Given the description of an element on the screen output the (x, y) to click on. 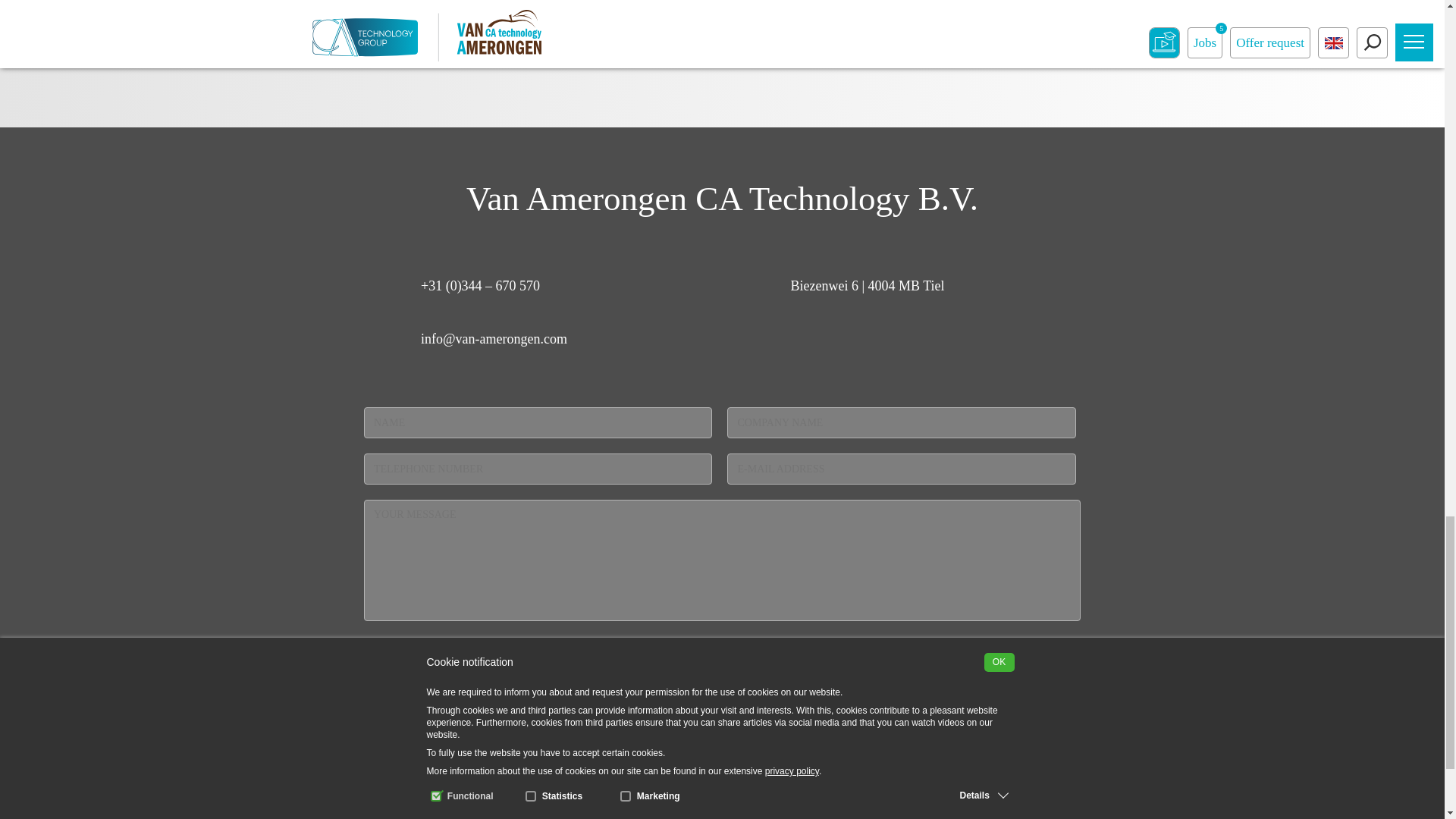
Widget containing checkbox for hCaptcha security challenge (479, 657)
SEND (721, 737)
